Given the description of an element on the screen output the (x, y) to click on. 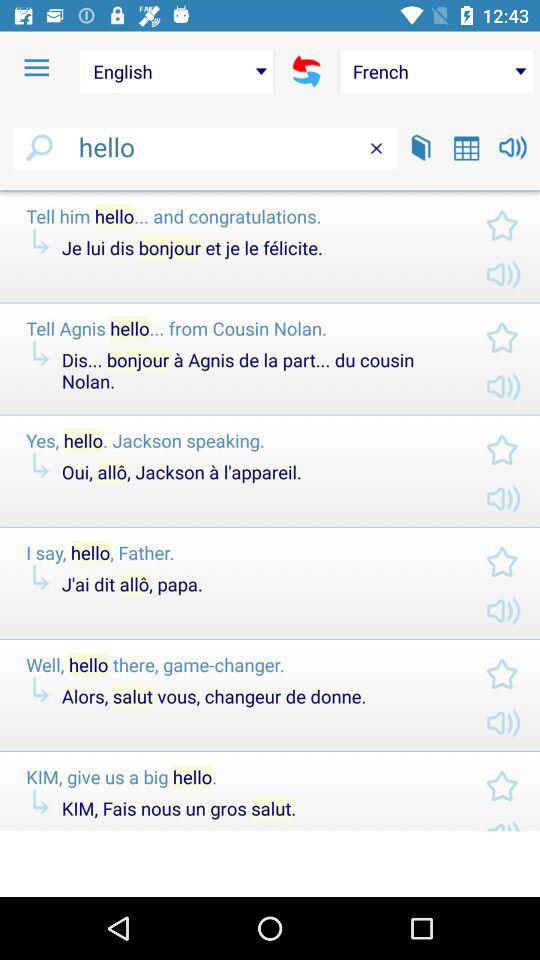
turn on the icon below yes hello jackson item (257, 471)
